Given the description of an element on the screen output the (x, y) to click on. 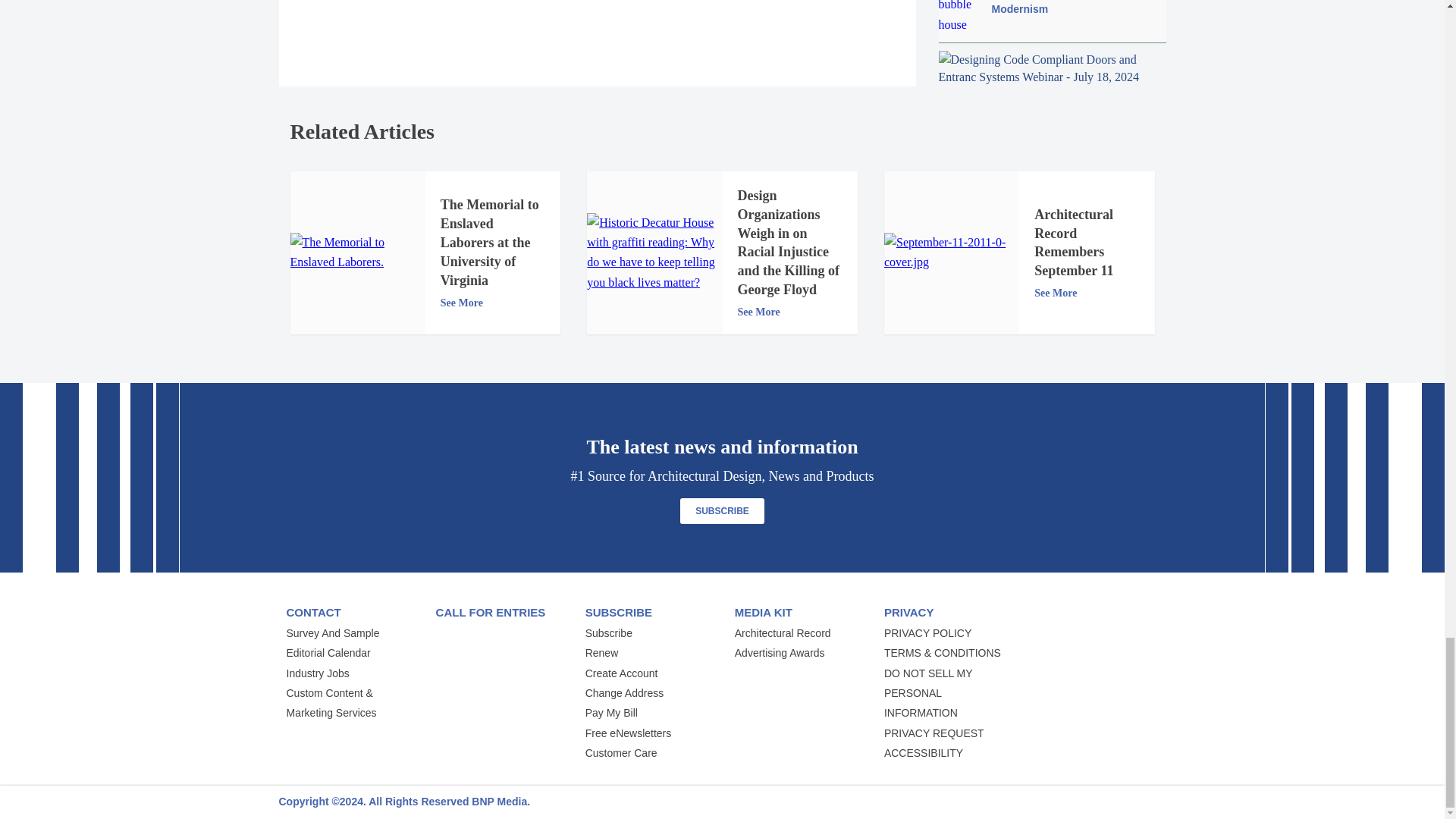
Decatur House (654, 252)
Memorial-to-Enslaved-Laborers-01-B.jpg (357, 252)
